Given the description of an element on the screen output the (x, y) to click on. 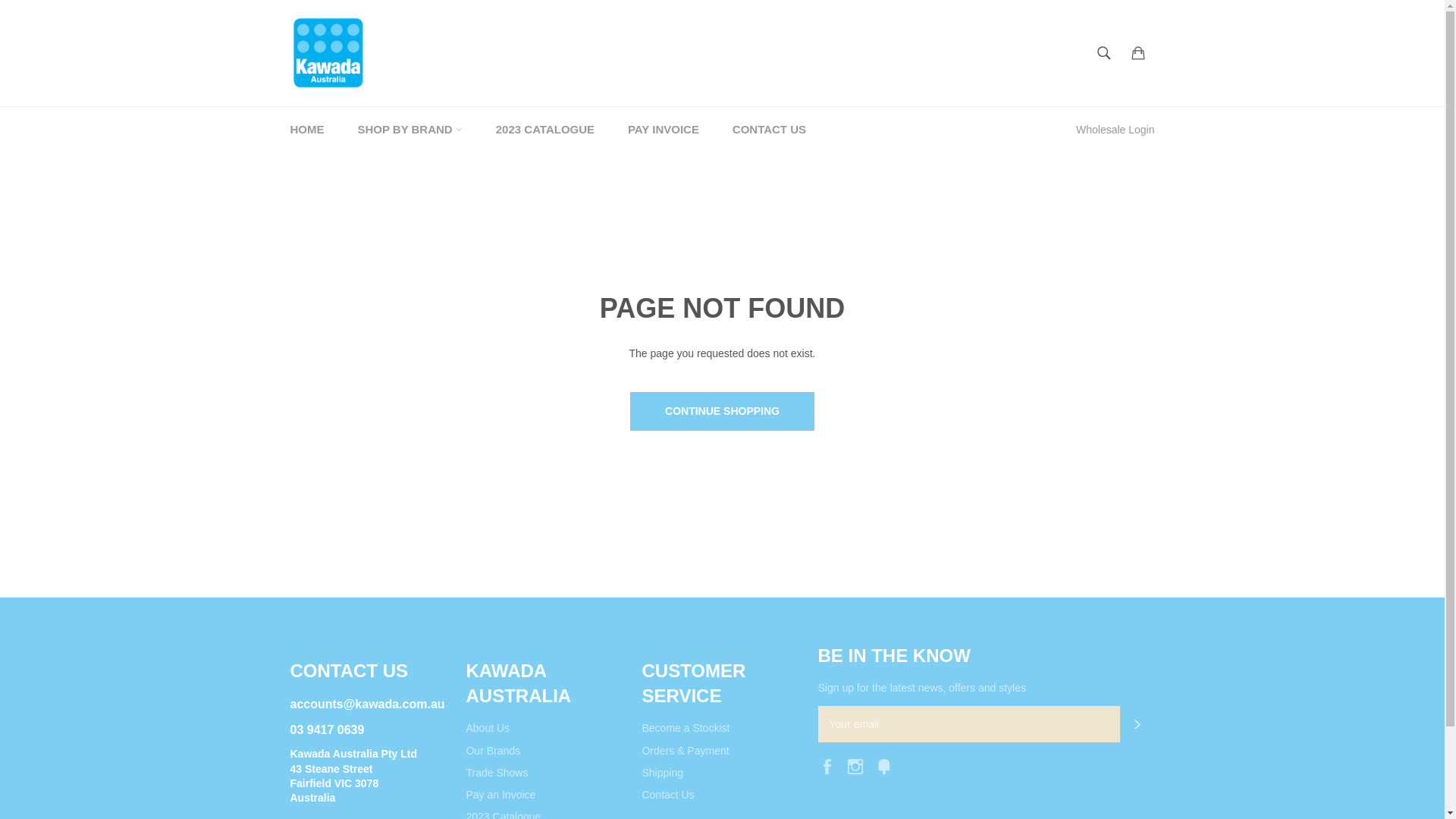
Facebook Element type: text (830, 765)
Search Element type: text (1104, 53)
About Us Element type: text (487, 727)
Trade Shows Element type: text (496, 772)
CONTACT US Element type: text (769, 129)
Contact Us Element type: text (667, 794)
Wholesale Login Element type: text (1115, 129)
Become a Stockist Element type: text (685, 727)
Our Brands Element type: text (492, 750)
HOME Element type: text (306, 129)
SUBSCRIBE Element type: text (1136, 724)
Orders & Payment Element type: text (684, 750)
Instagram Element type: text (859, 765)
PAY INVOICE Element type: text (663, 129)
CONTINUE SHOPPING Element type: text (722, 411)
Fancy Element type: text (887, 765)
Shipping Element type: text (662, 772)
accounts@kawada.com.au Element type: text (366, 703)
2023 CATALOGUE Element type: text (544, 129)
Cart Element type: text (1138, 53)
SHOP BY BRAND Element type: text (409, 129)
Pay an Invoice Element type: text (500, 794)
